Given the description of an element on the screen output the (x, y) to click on. 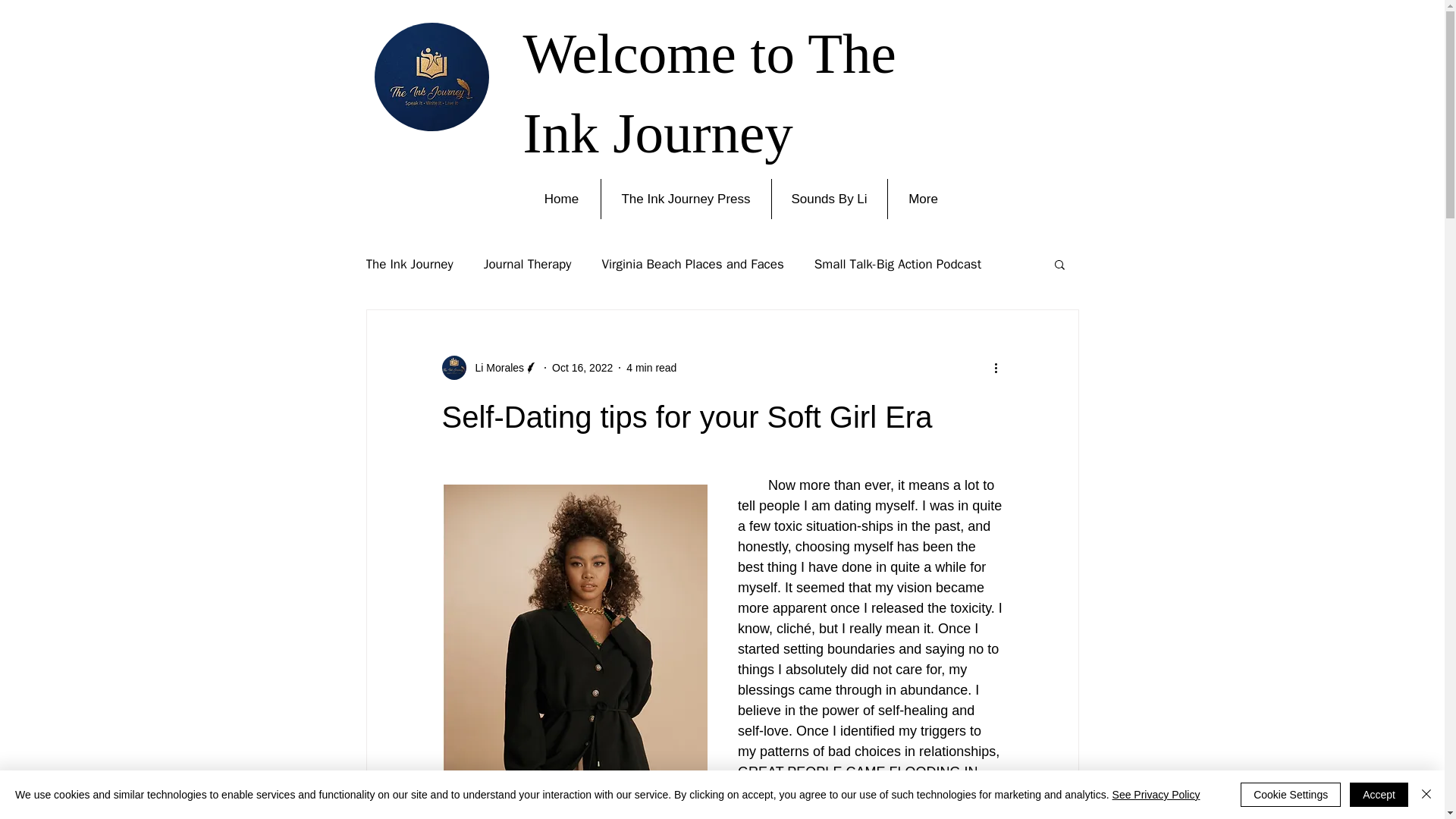
Accept (1378, 794)
Sounds By Li (828, 199)
Oct 16, 2022 (581, 367)
Small Talk-Big Action Podcast (897, 262)
Li Morales (489, 367)
Cookie Settings (1290, 794)
See Privacy Policy (1155, 794)
The Ink Journey Press (684, 199)
Journal Therapy (527, 262)
4 min read (651, 367)
